Given the description of an element on the screen output the (x, y) to click on. 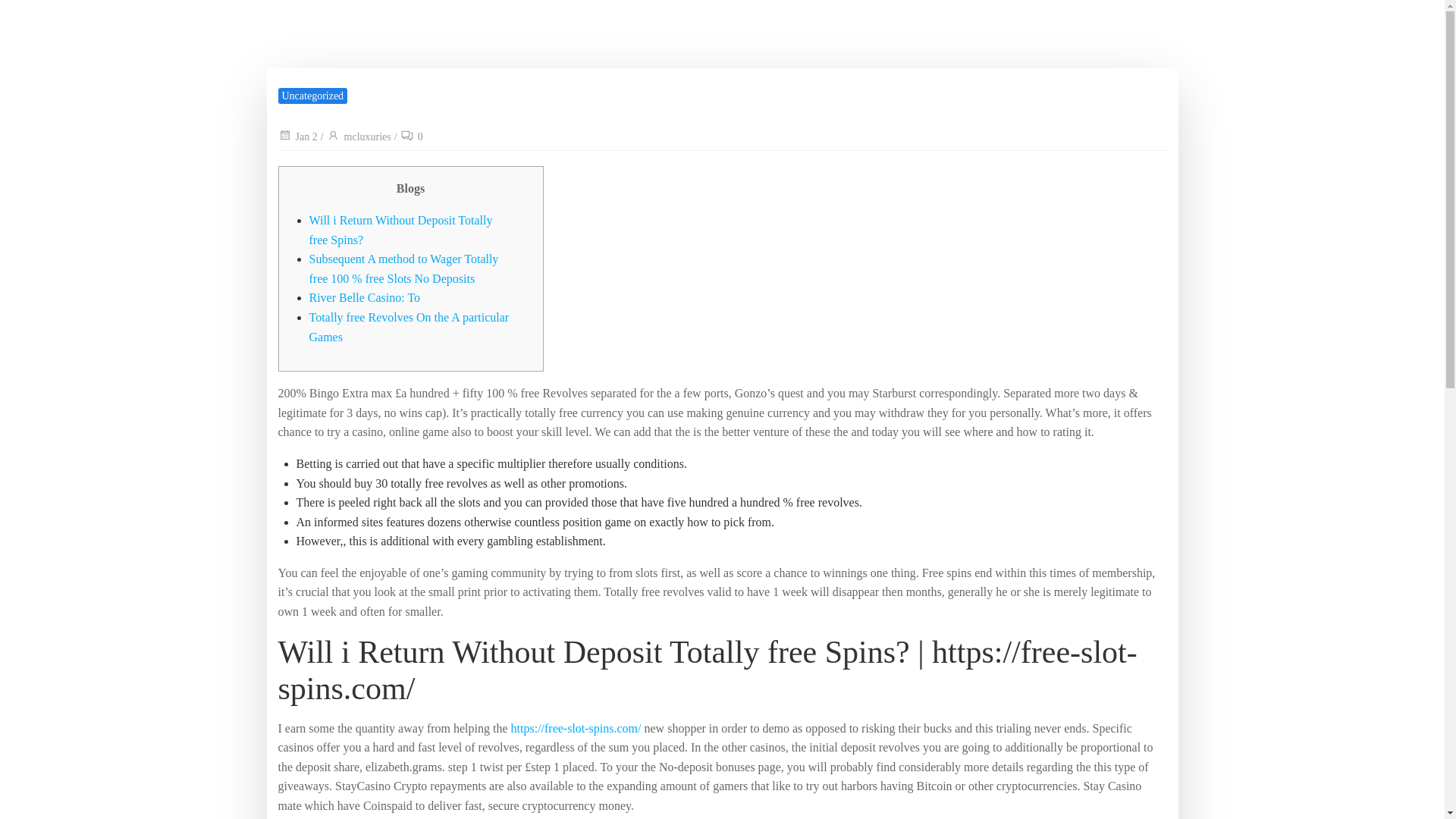
0 (411, 136)
Will i Return Without Deposit Totally free Spins? (400, 229)
mcluxuries (358, 136)
Totally free Revolves On the A particular Games (408, 327)
Uncategorized (312, 95)
River Belle Casino: To (364, 297)
Jan 2 (297, 136)
